Given the description of an element on the screen output the (x, y) to click on. 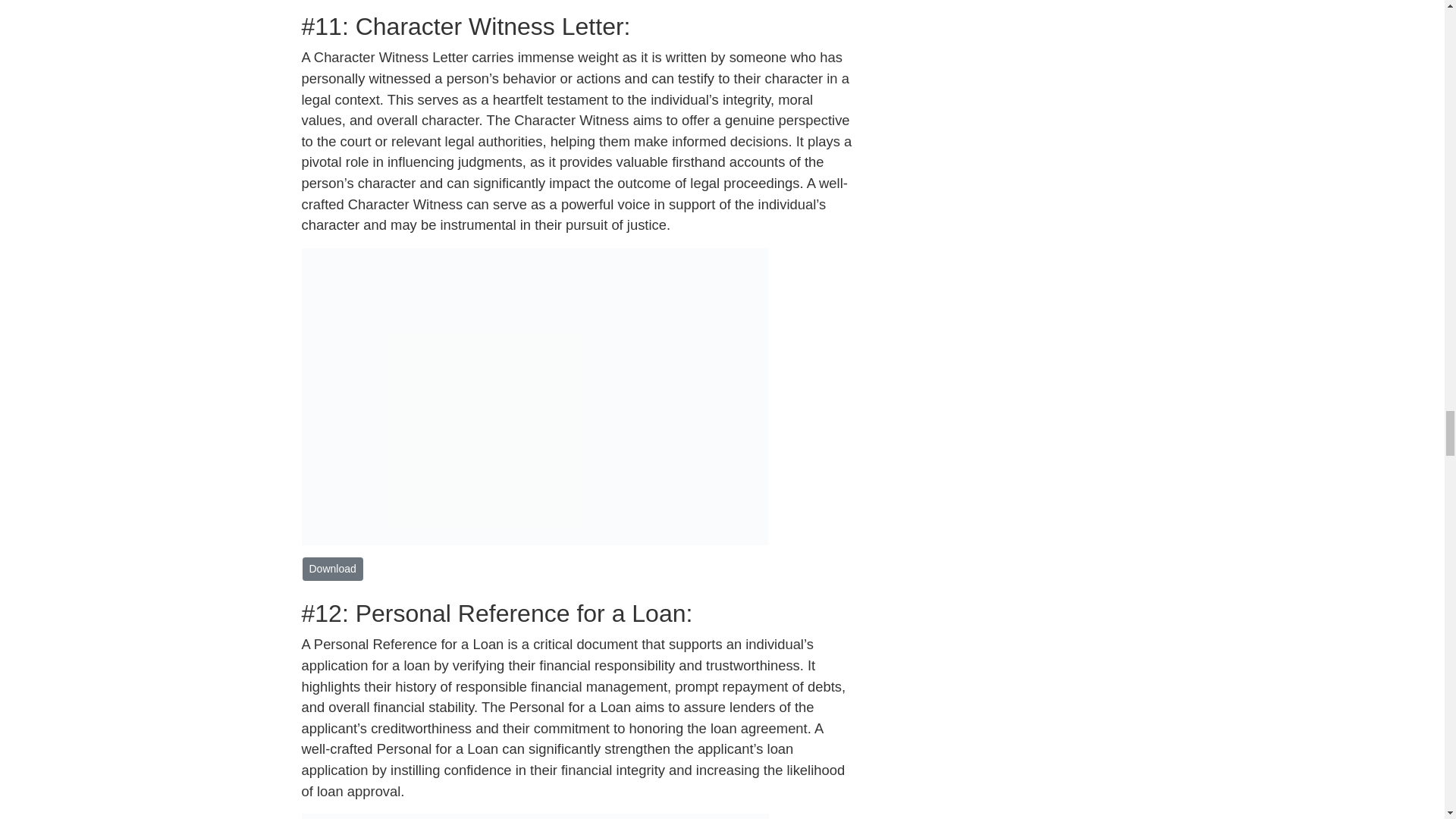
Download (331, 568)
